Given the description of an element on the screen output the (x, y) to click on. 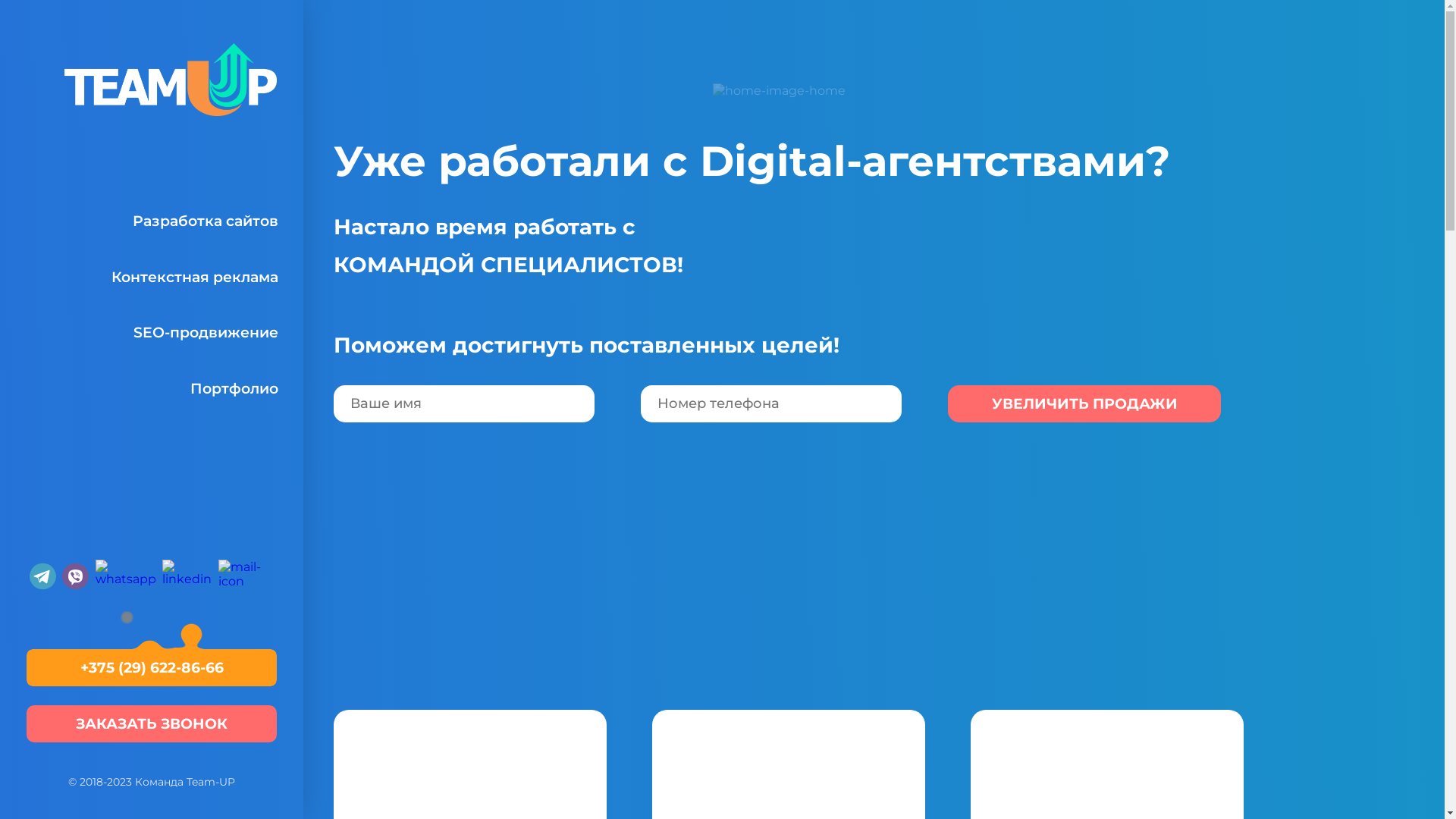
+375 (29) 622-86-66 Element type: text (151, 667)
Team-up.by Element type: hover (170, 79)
